Given the description of an element on the screen output the (x, y) to click on. 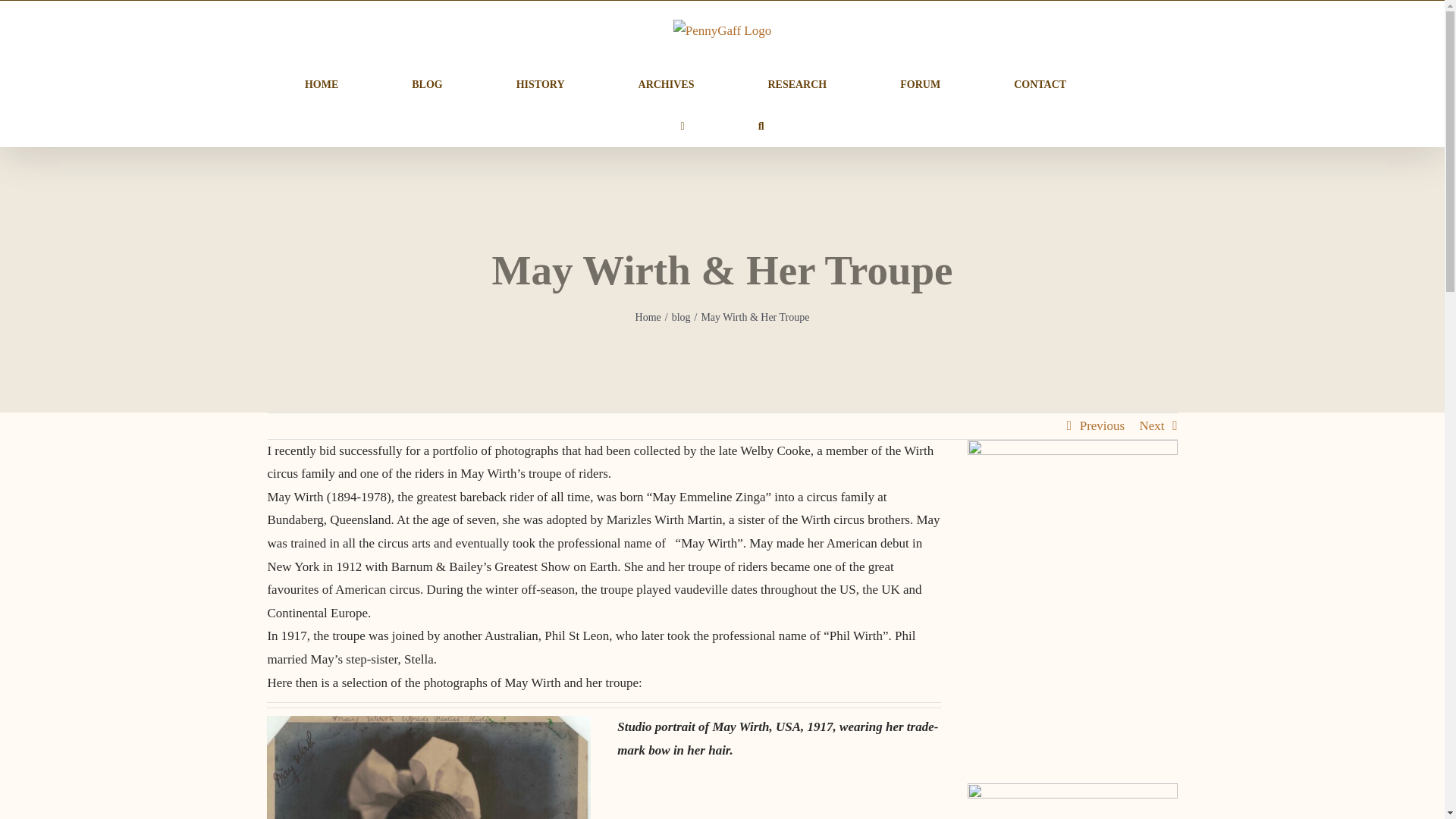
Previous (1102, 425)
HISTORY (540, 83)
Home (647, 316)
FORUM (919, 83)
CONTACT (1039, 83)
May Wirth 4 copy (427, 767)
book-1 (1072, 518)
ARCHIVES (666, 83)
Next (1150, 425)
RESEARCH (797, 83)
